Given the description of an element on the screen output the (x, y) to click on. 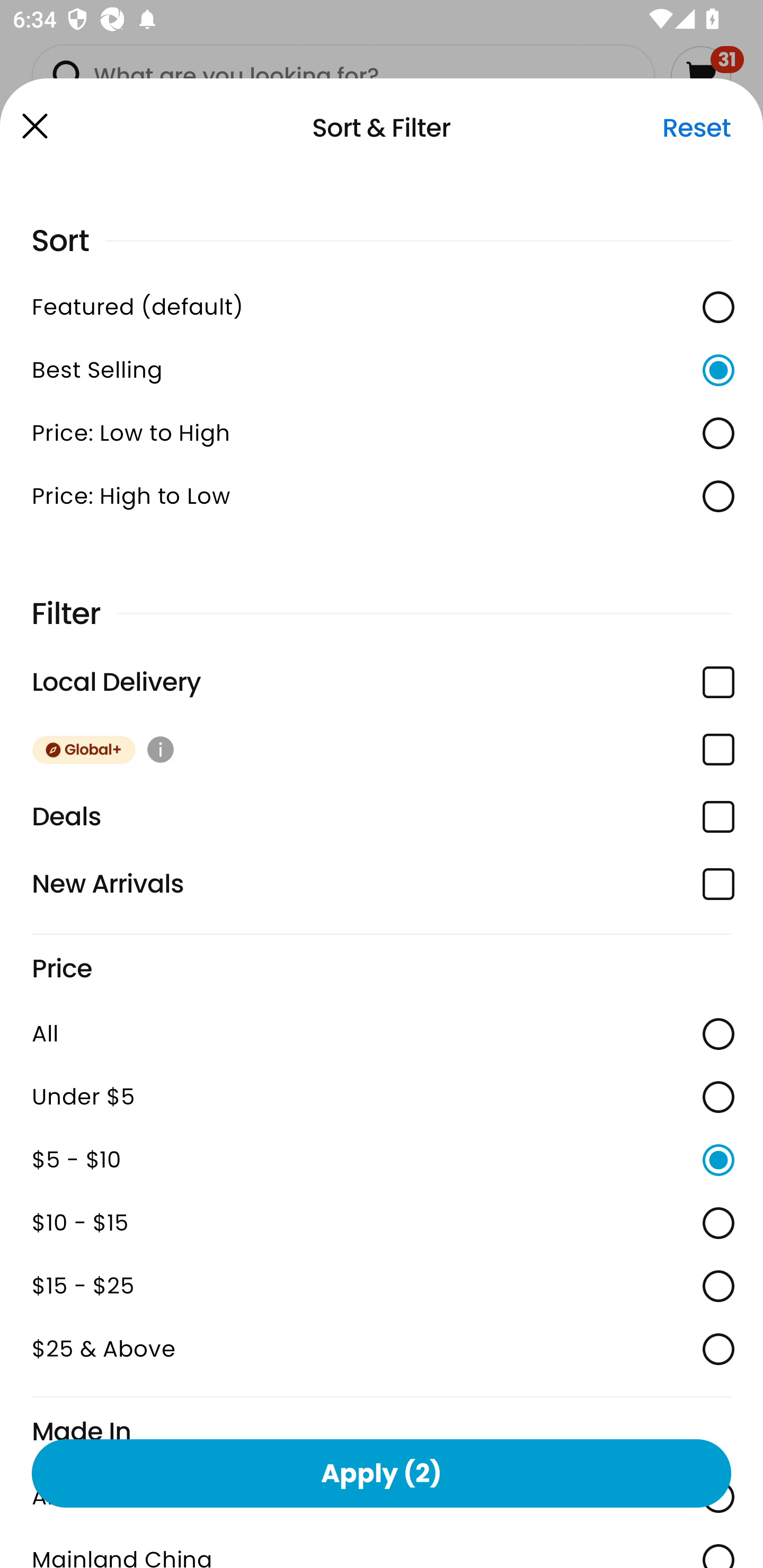
Reset (696, 127)
Apply (2) (381, 1472)
